Given the description of an element on the screen output the (x, y) to click on. 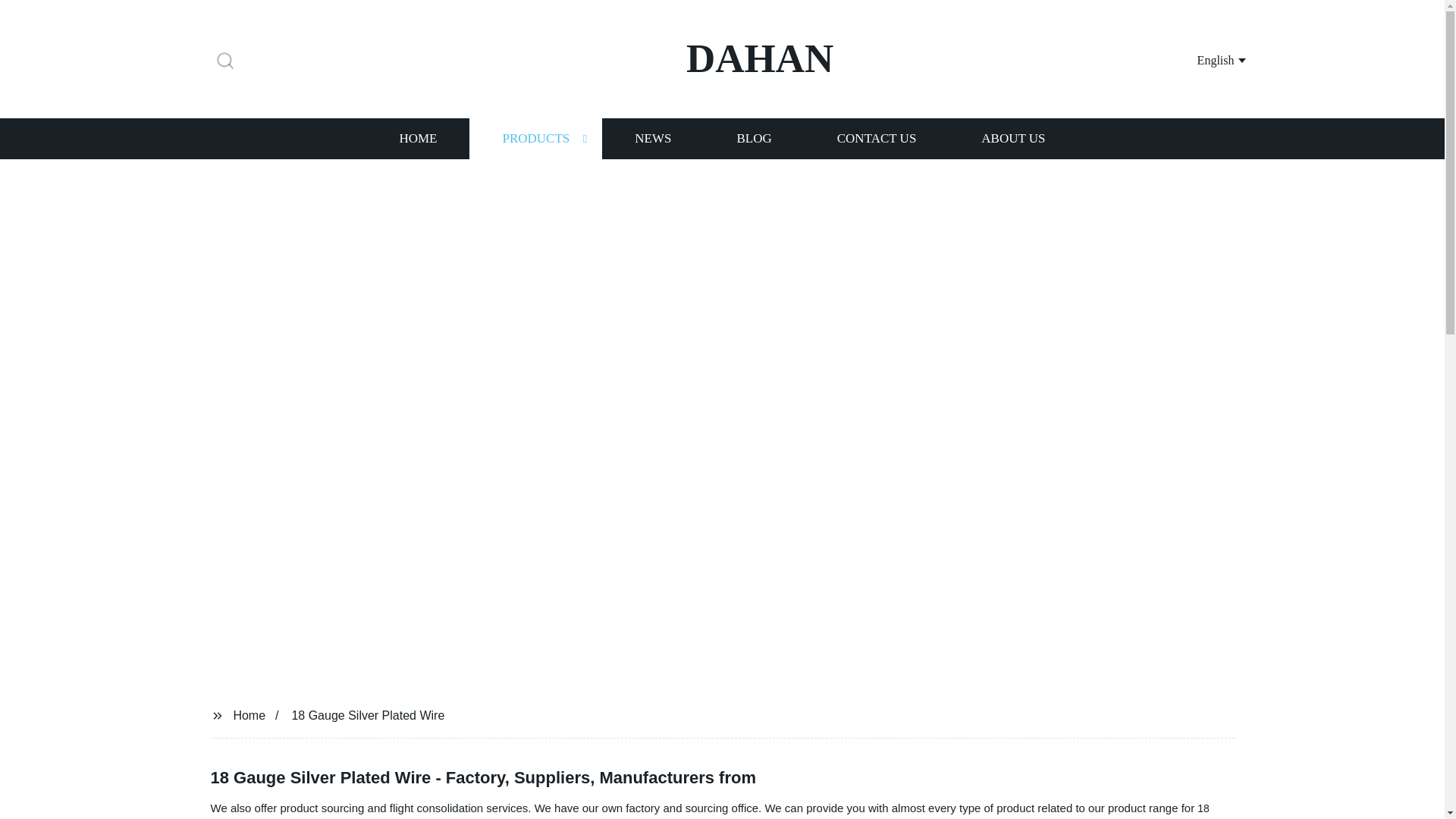
BLOG (753, 137)
18 Gauge Silver Plated Wire (710, 810)
Home (248, 714)
NEWS (652, 137)
English (1203, 59)
PRODUCTS (535, 137)
English (1203, 59)
ABOUT US (1013, 137)
CONTACT US (877, 137)
18 Gauge Silver Plated Wire (710, 810)
